Given the description of an element on the screen output the (x, y) to click on. 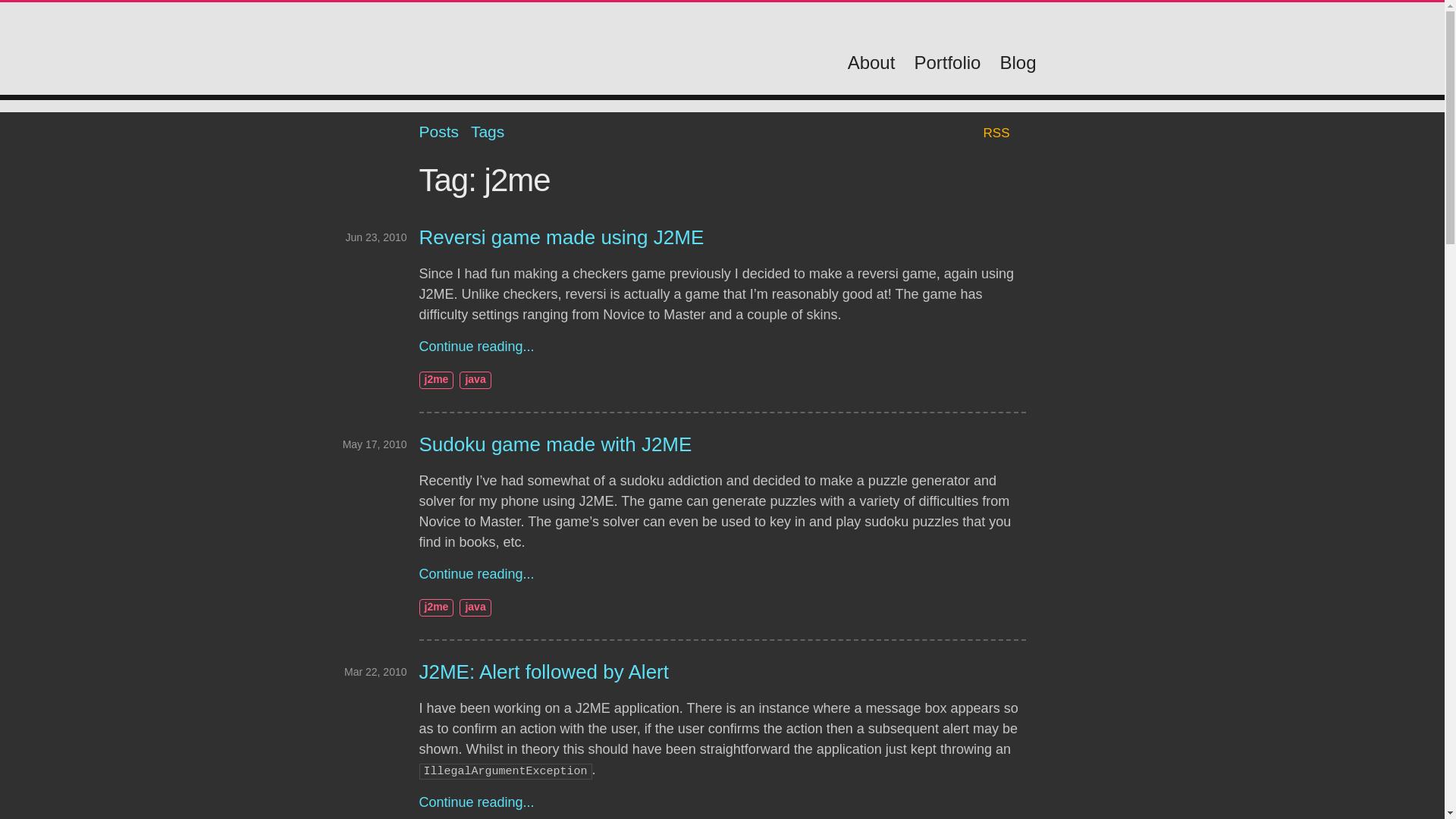
J2ME: Alert followed by Alert (543, 671)
java (475, 380)
Sudoku game made with J2ME (555, 444)
Reversi game made using J2ME (561, 237)
Continue reading... (476, 801)
Posts (438, 131)
Continue reading... (476, 346)
java (475, 607)
Lea Hayes (550, 52)
RSS (997, 133)
